Given the description of an element on the screen output the (x, y) to click on. 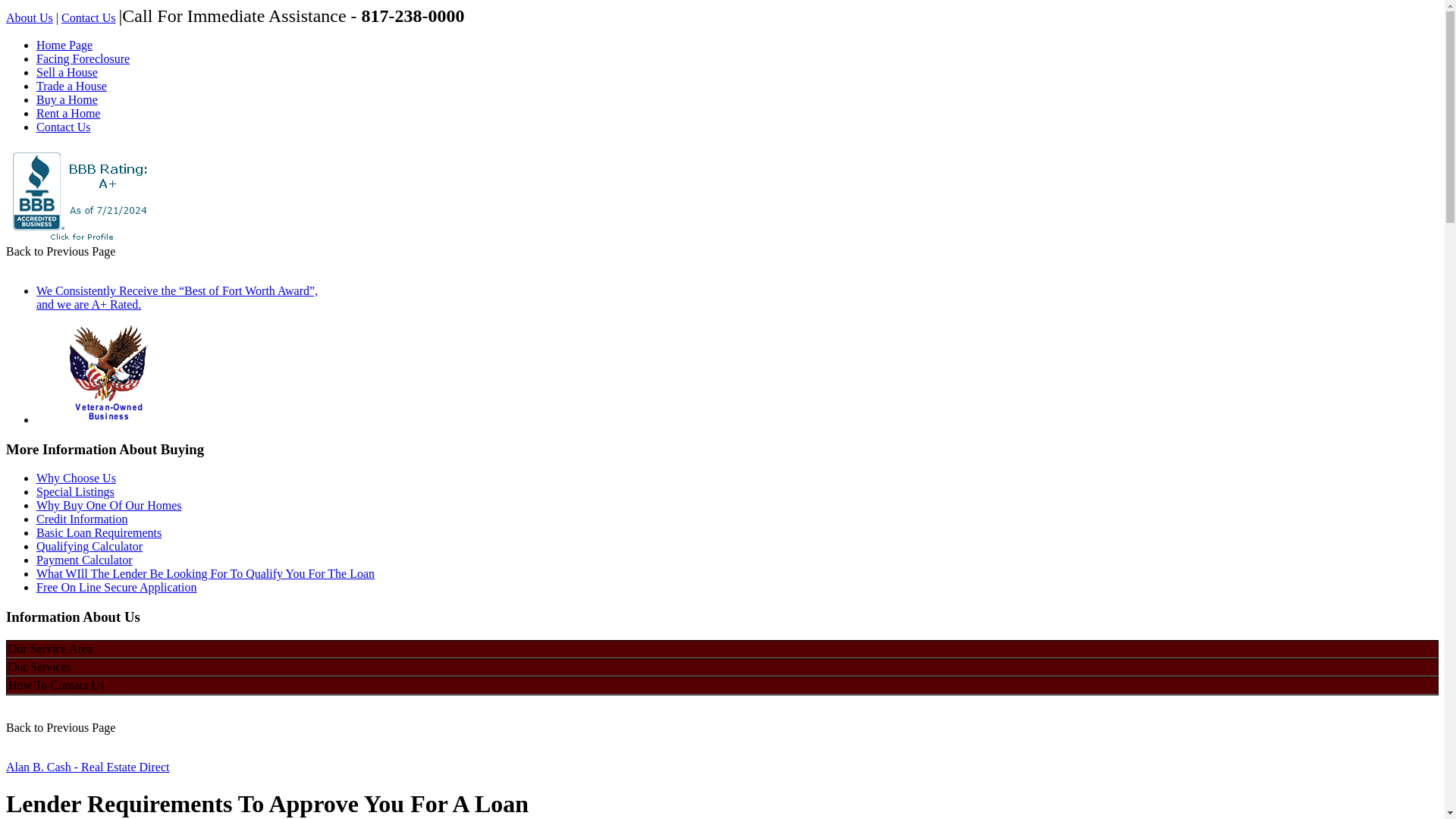
Free On Line Secure Application (116, 586)
Why Choose Us (76, 477)
Contact Us (88, 17)
Home Page (64, 44)
Back to Previous Page (60, 727)
Alan B. Cash - Real Estate Direct BBB Business Review (81, 240)
Sell a House (66, 72)
Qualifying Calculator (89, 545)
Credit Information (82, 518)
Alan B. Cash - Real Estate Direct (87, 766)
Special Listings (75, 491)
Facing Foreclosure (82, 58)
About Us (28, 17)
Payment Calculator (84, 559)
